Given the description of an element on the screen output the (x, y) to click on. 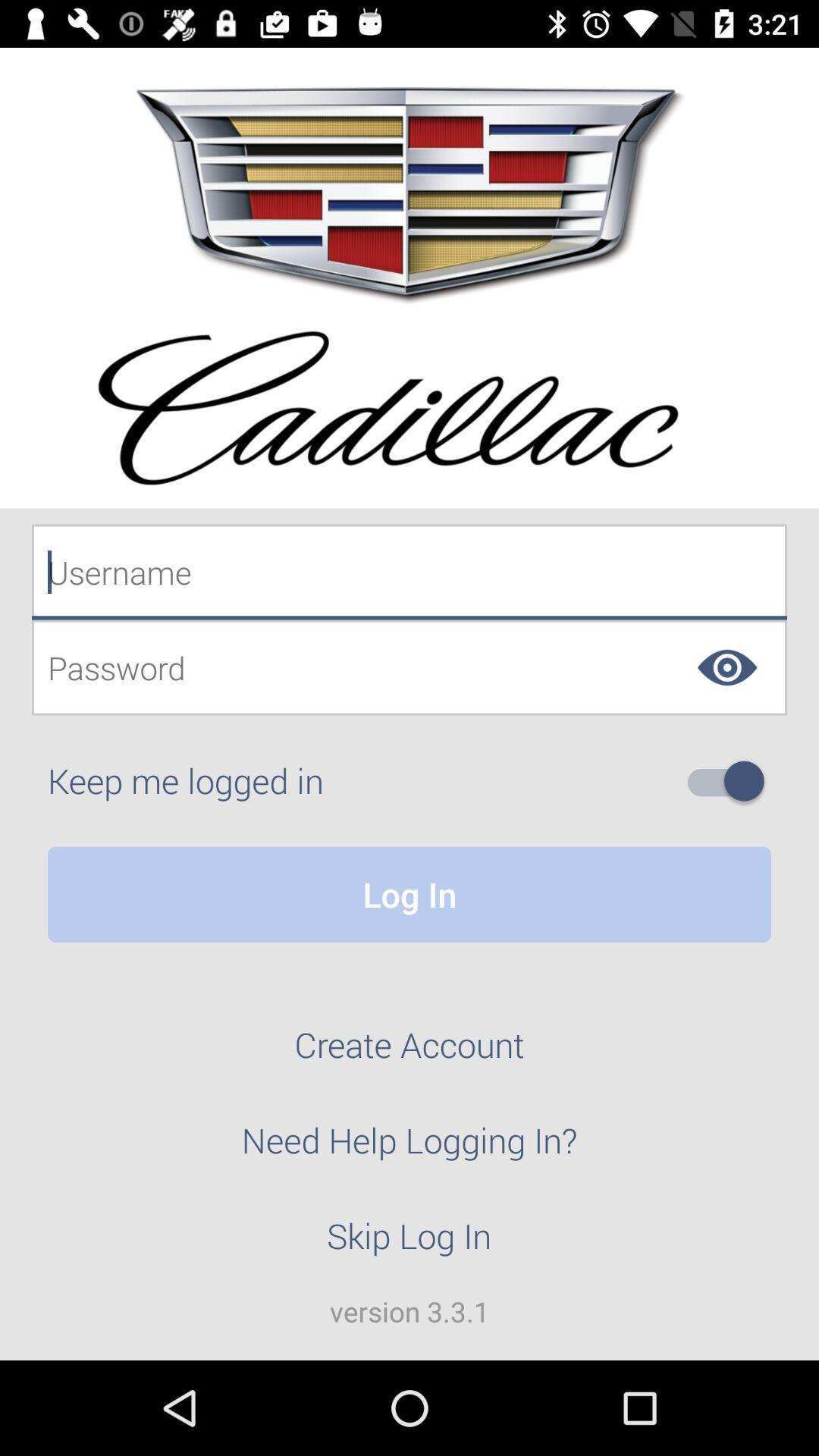
toggle on/off auto log in (731, 781)
